Given the description of an element on the screen output the (x, y) to click on. 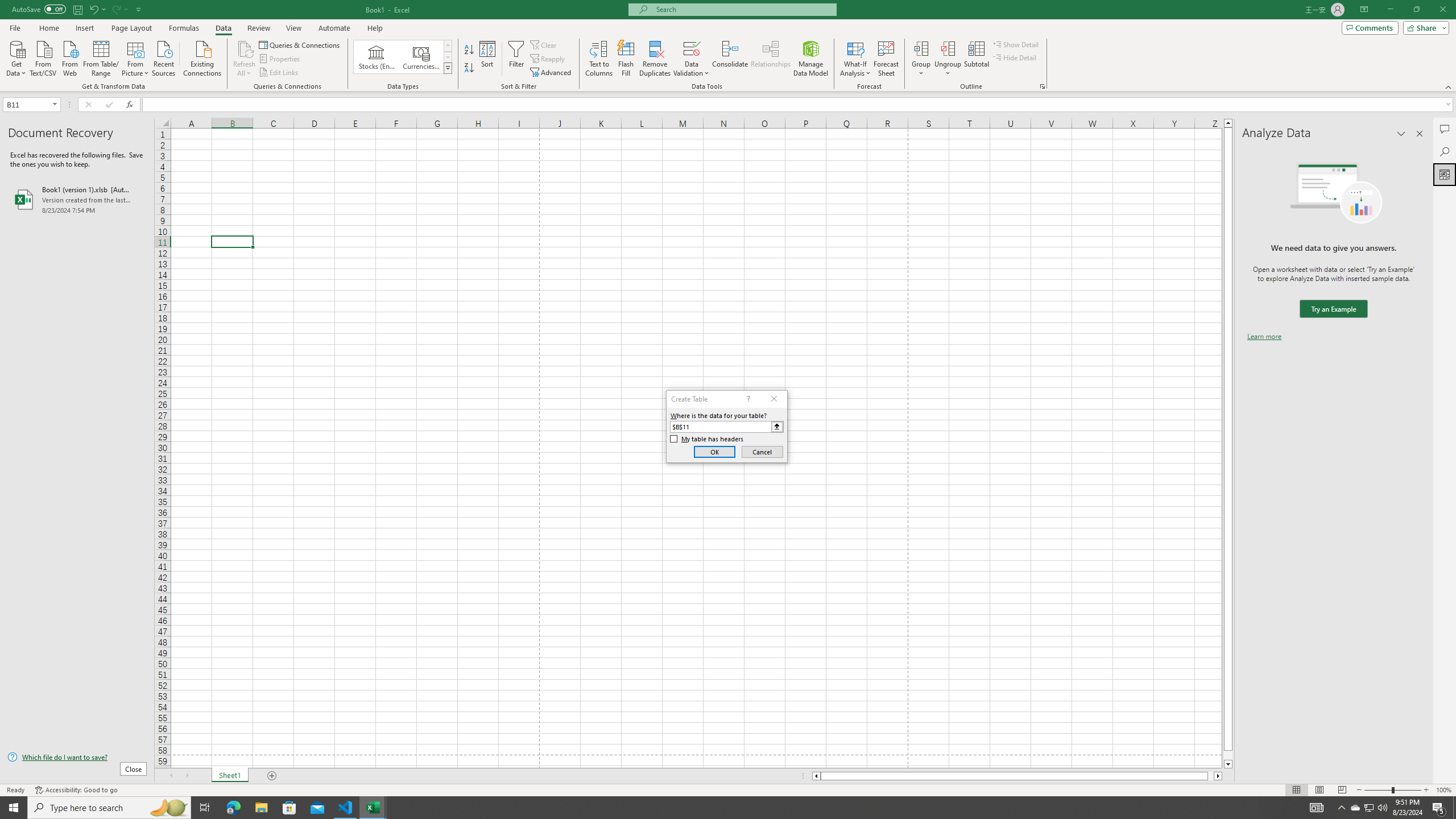
Currencies (English) (420, 56)
Edit Links (279, 72)
Sort Z to A (469, 67)
Remove Duplicates (654, 58)
Subtotal (976, 58)
